Given the description of an element on the screen output the (x, y) to click on. 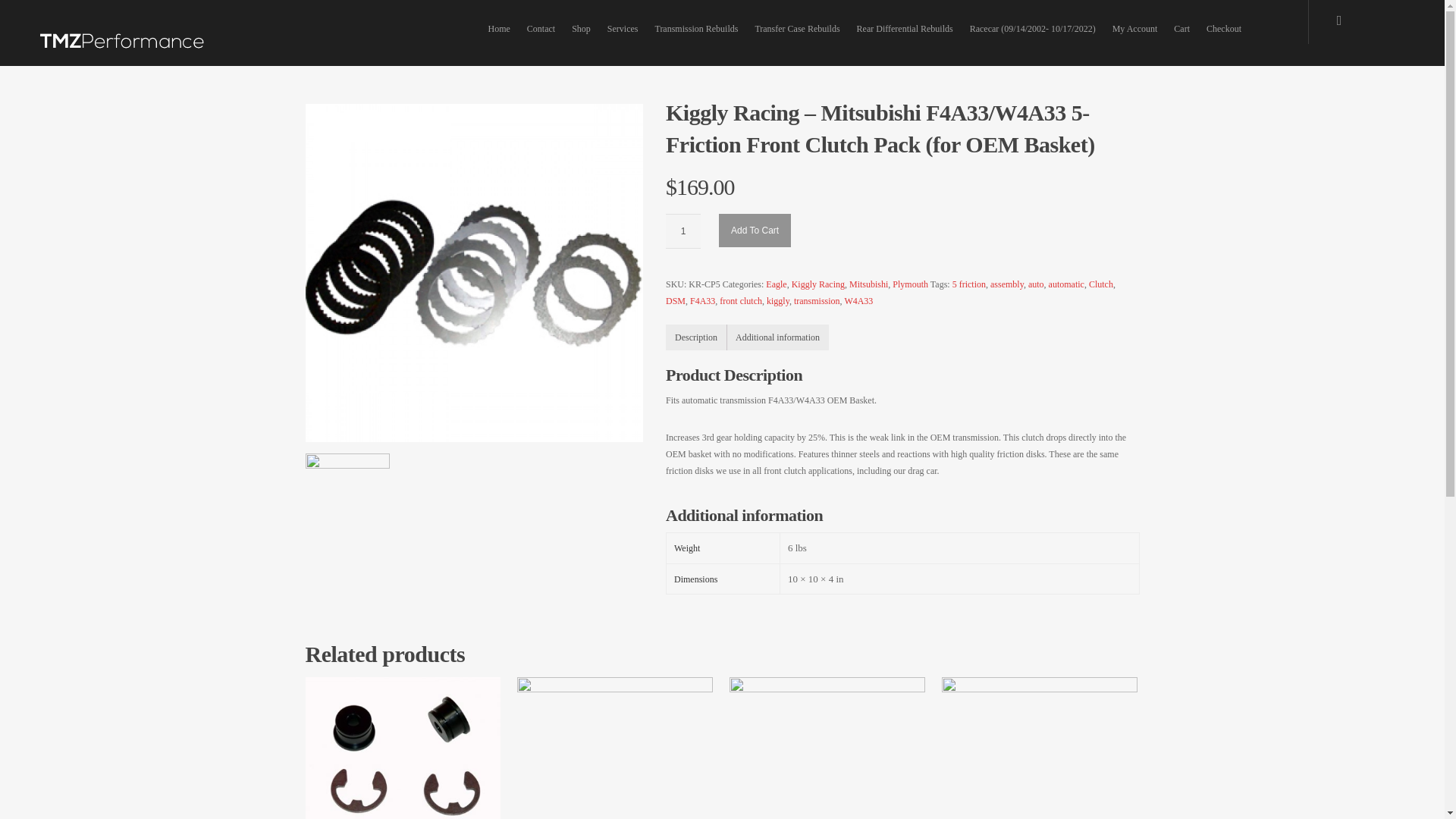
Home (498, 28)
Rear Differential Rebuilds (904, 28)
Transmission Rebuilds (695, 28)
Shop (581, 28)
Contact (540, 28)
Cart (1181, 28)
Kiggly 5 friction front clutch (473, 273)
Kiggly 5 friction front clutch (473, 287)
Checkout (1223, 28)
My Account (1135, 28)
1 (682, 230)
Services (622, 28)
Qty (682, 230)
Transfer Case Rebuilds (796, 28)
